Given the description of an element on the screen output the (x, y) to click on. 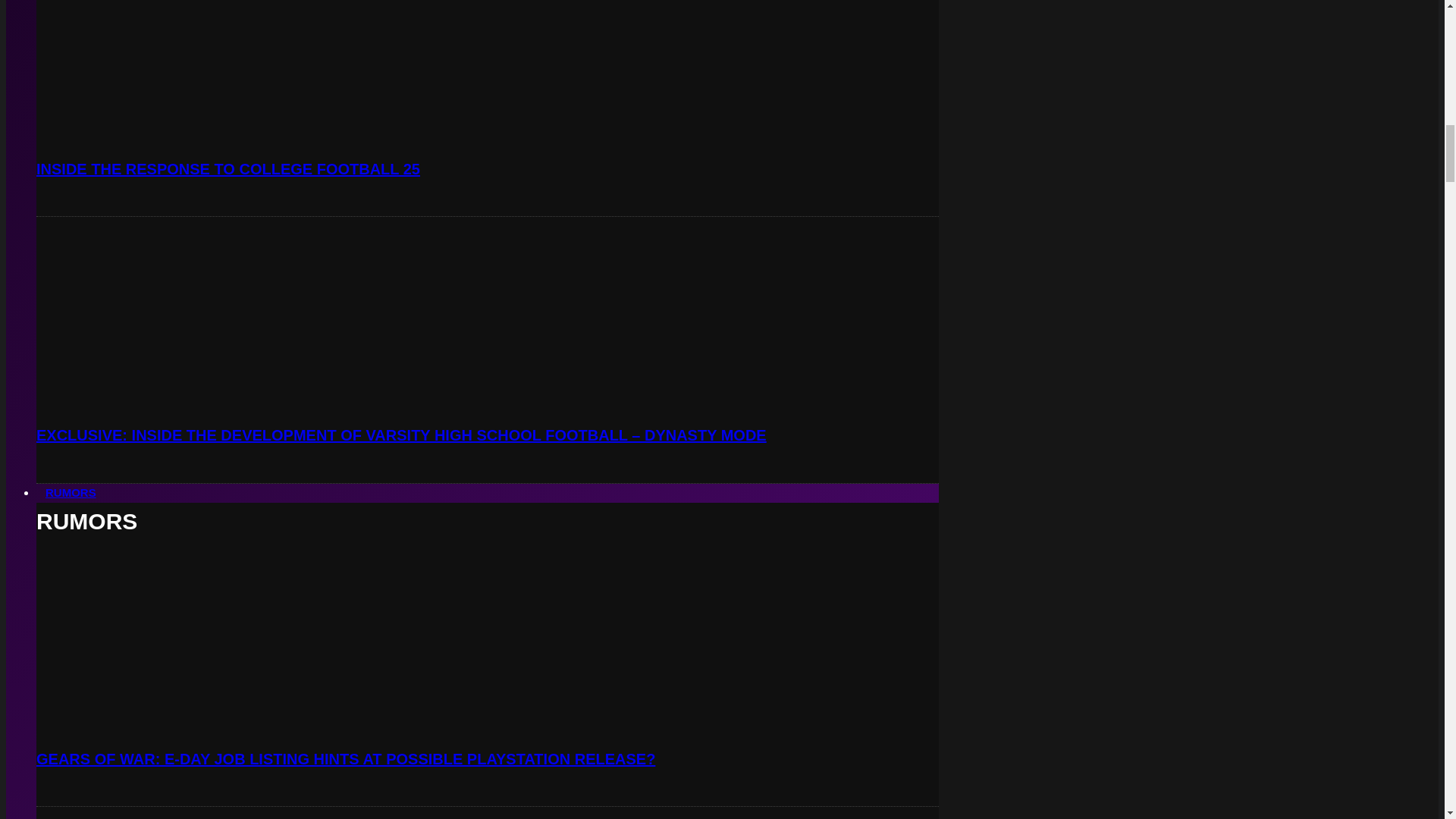
RUMORS (70, 491)
INSIDE THE RESPONSE TO COLLEGE FOOTBALL 25 (228, 168)
